Given the description of an element on the screen output the (x, y) to click on. 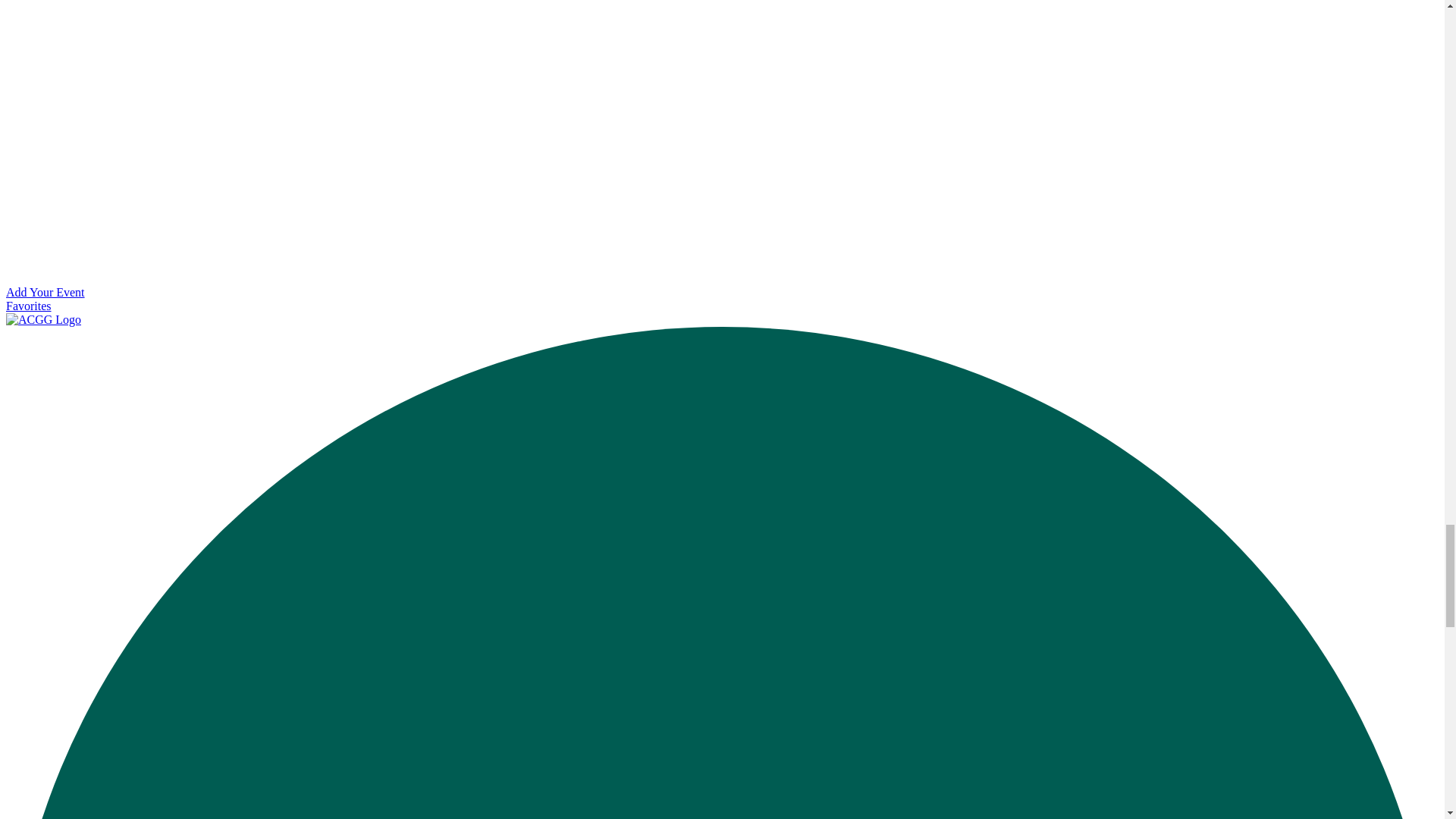
Favorites (27, 305)
Add Your Event (44, 291)
